Given the description of an element on the screen output the (x, y) to click on. 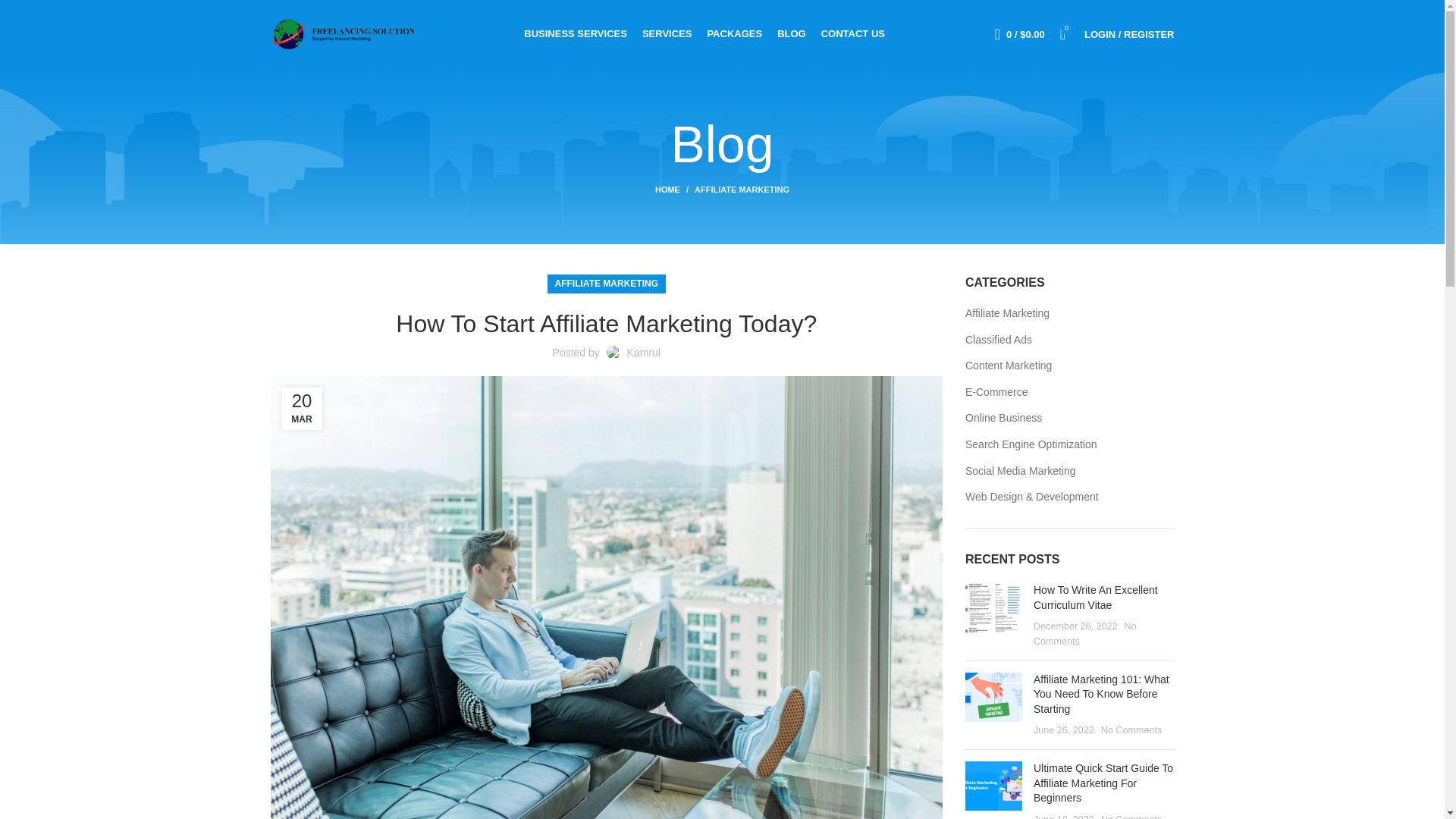
CONTACT US (853, 33)
Permalink to How To Write An Excellent Curriculum Vitae (1095, 596)
SERVICES (667, 33)
AFFILIATE MARKETING (606, 283)
Kamrul (644, 352)
BLOG (791, 33)
BUSINESS SERVICES (575, 33)
Shopping cart (1019, 33)
Log in (1049, 275)
My account (1128, 33)
HOME (674, 189)
AFFILIATE MARKETING (741, 189)
PACKAGES (733, 33)
